Given the description of an element on the screen output the (x, y) to click on. 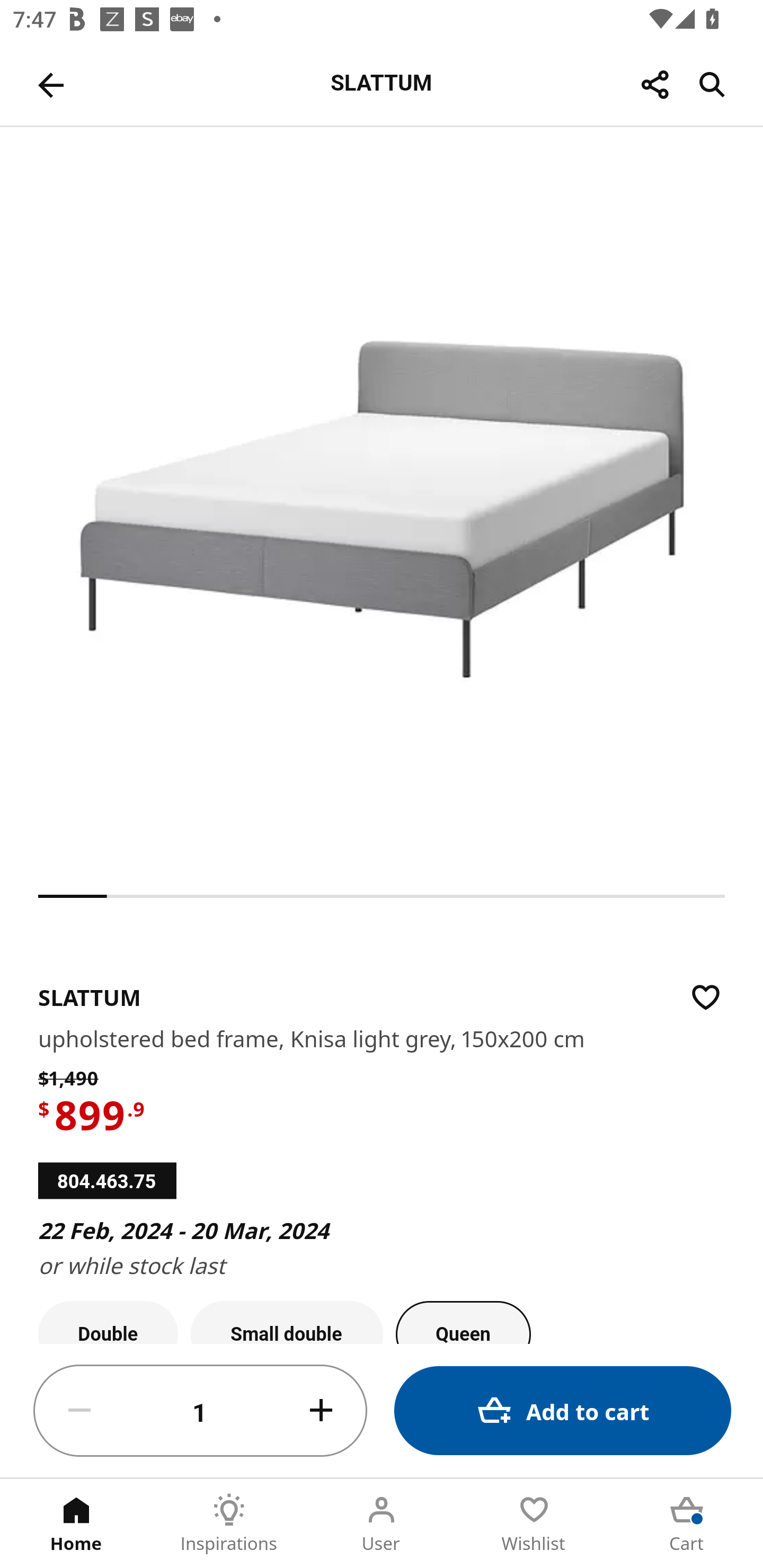
Double (107, 1322)
Small double (286, 1322)
Queen (463, 1322)
Add to cart (562, 1410)
1 (200, 1411)
Home
Tab 1 of 5 (76, 1522)
Inspirations
Tab 2 of 5 (228, 1522)
User
Tab 3 of 5 (381, 1522)
Wishlist
Tab 4 of 5 (533, 1522)
Cart
Tab 5 of 5 (686, 1522)
